Given the description of an element on the screen output the (x, y) to click on. 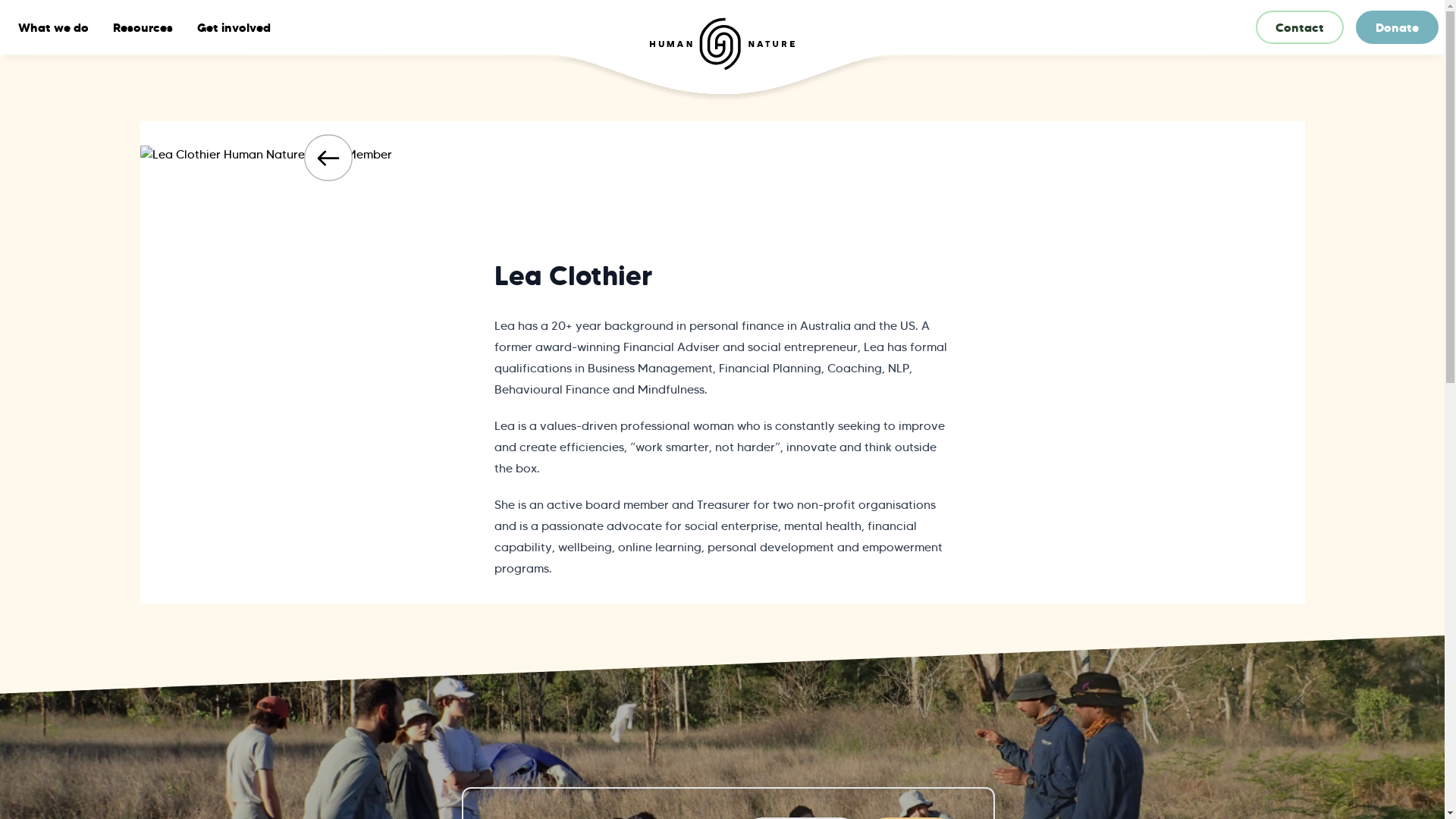
Get involved Element type: text (233, 26)
Contact Element type: text (1299, 26)
Resources Element type: text (142, 26)
Donate Element type: text (1396, 26)
What we do Element type: text (53, 26)
